Given the description of an element on the screen output the (x, y) to click on. 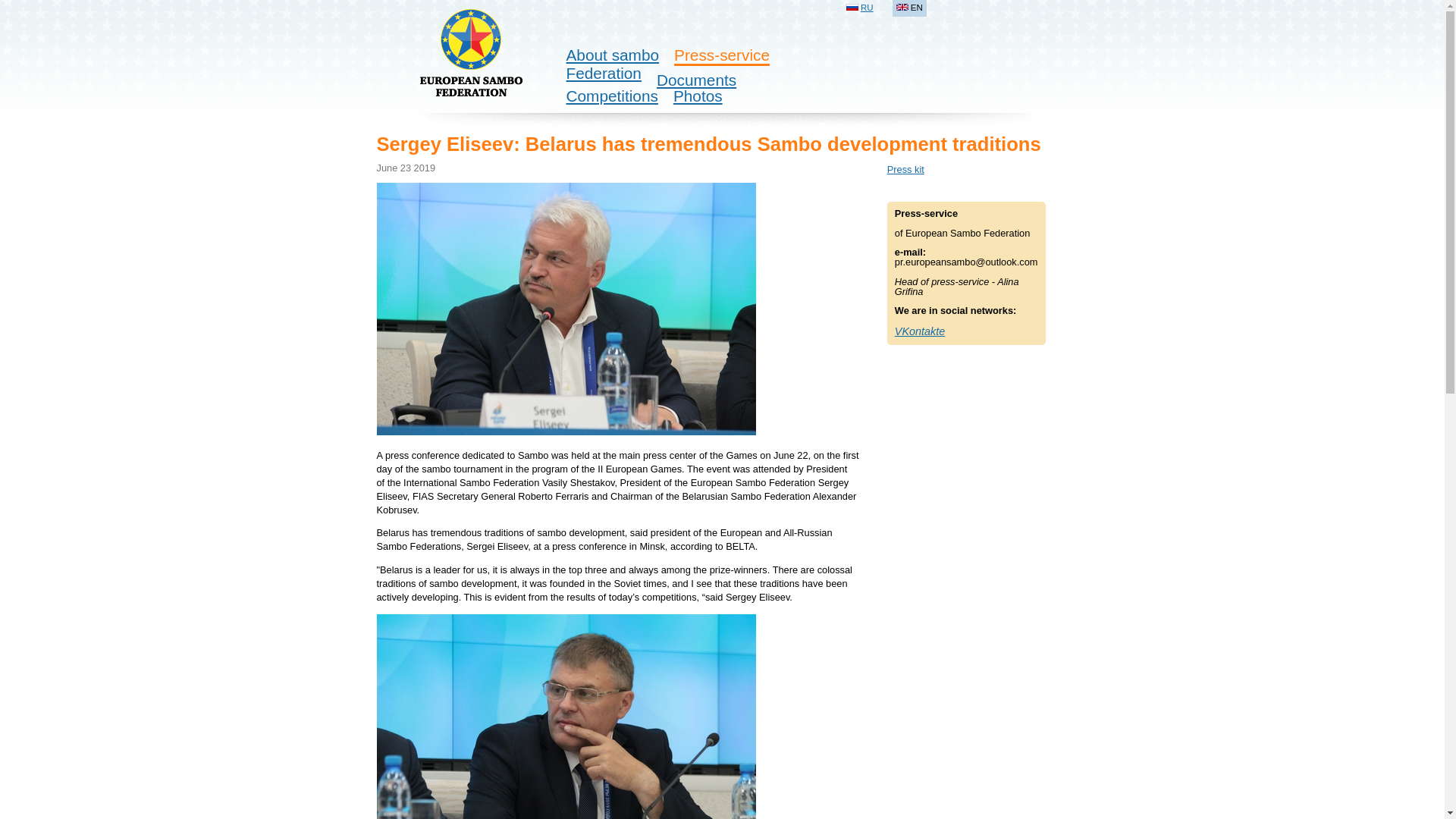
VKontakte (919, 331)
Documents (696, 79)
Federation (603, 72)
Photos (697, 95)
About sambo (612, 54)
Press-service (722, 54)
Press kit (905, 169)
RU (866, 7)
Competitions (612, 95)
